Given the description of an element on the screen output the (x, y) to click on. 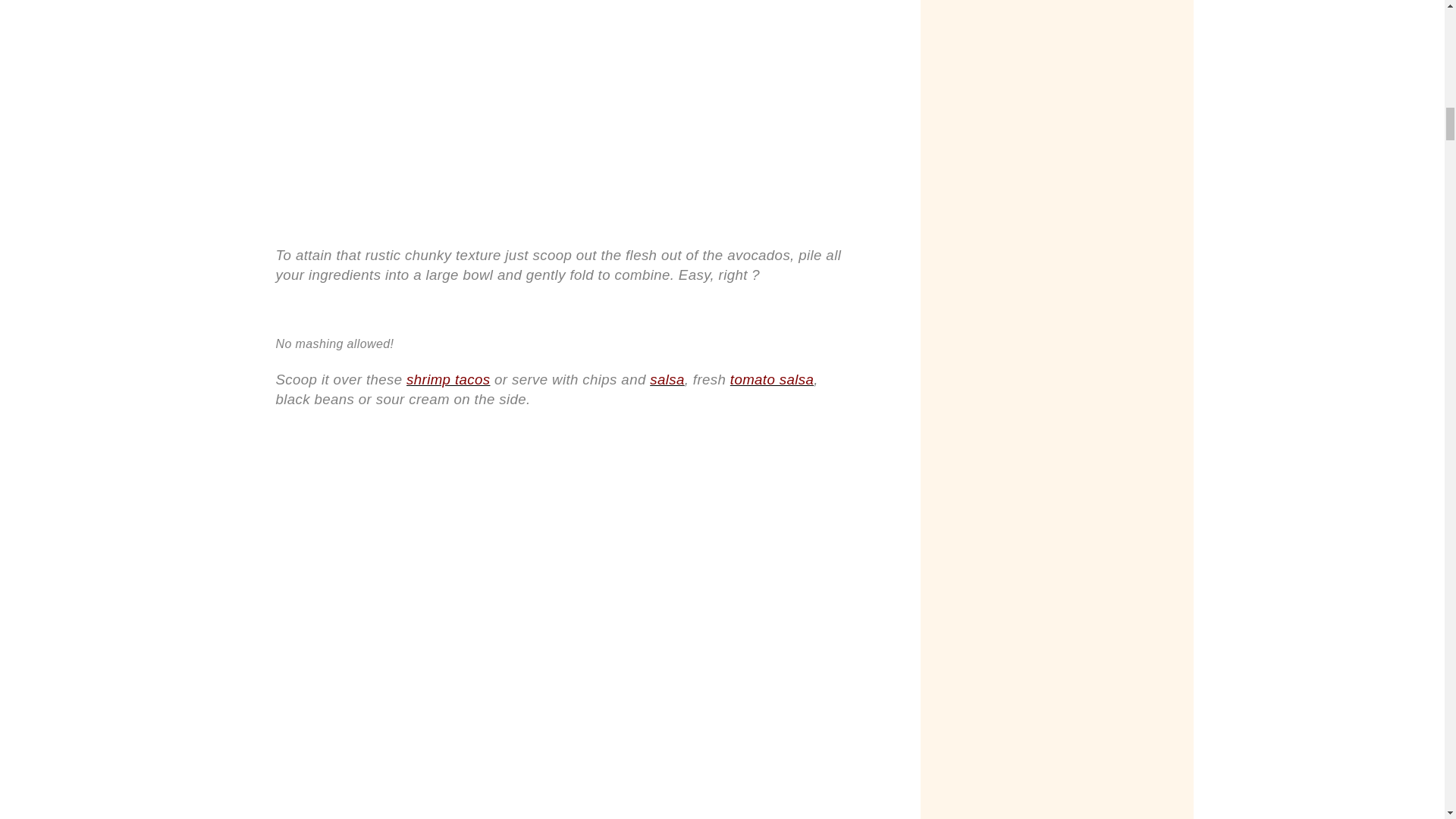
Healthy Homemade Guacamole in a Rustic Black Bowl (560, 12)
salsa (666, 379)
shrimp tacos (447, 379)
tomato salsa (771, 379)
